Given the description of an element on the screen output the (x, y) to click on. 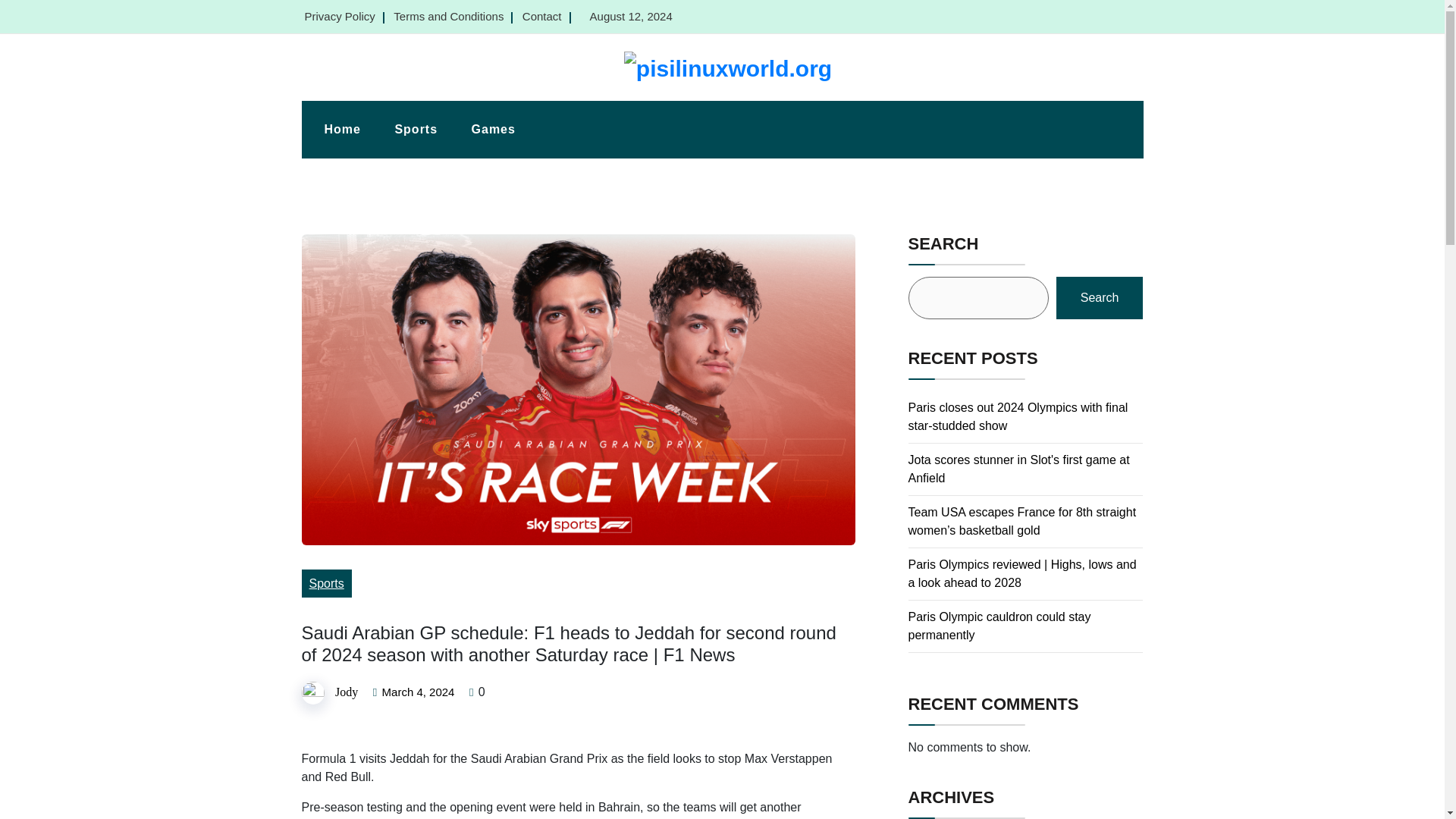
Paris closes out 2024 Olympics with final star-studded show (1018, 416)
Jota scores stunner in Slot's first game at Anfield (1018, 468)
Games (494, 129)
Home (341, 129)
Search (1099, 297)
Sports (415, 129)
Paris Olympic cauldron could stay permanently (999, 625)
Terms and Conditions (448, 15)
Contact (542, 15)
Privacy Policy (339, 15)
